Given the description of an element on the screen output the (x, y) to click on. 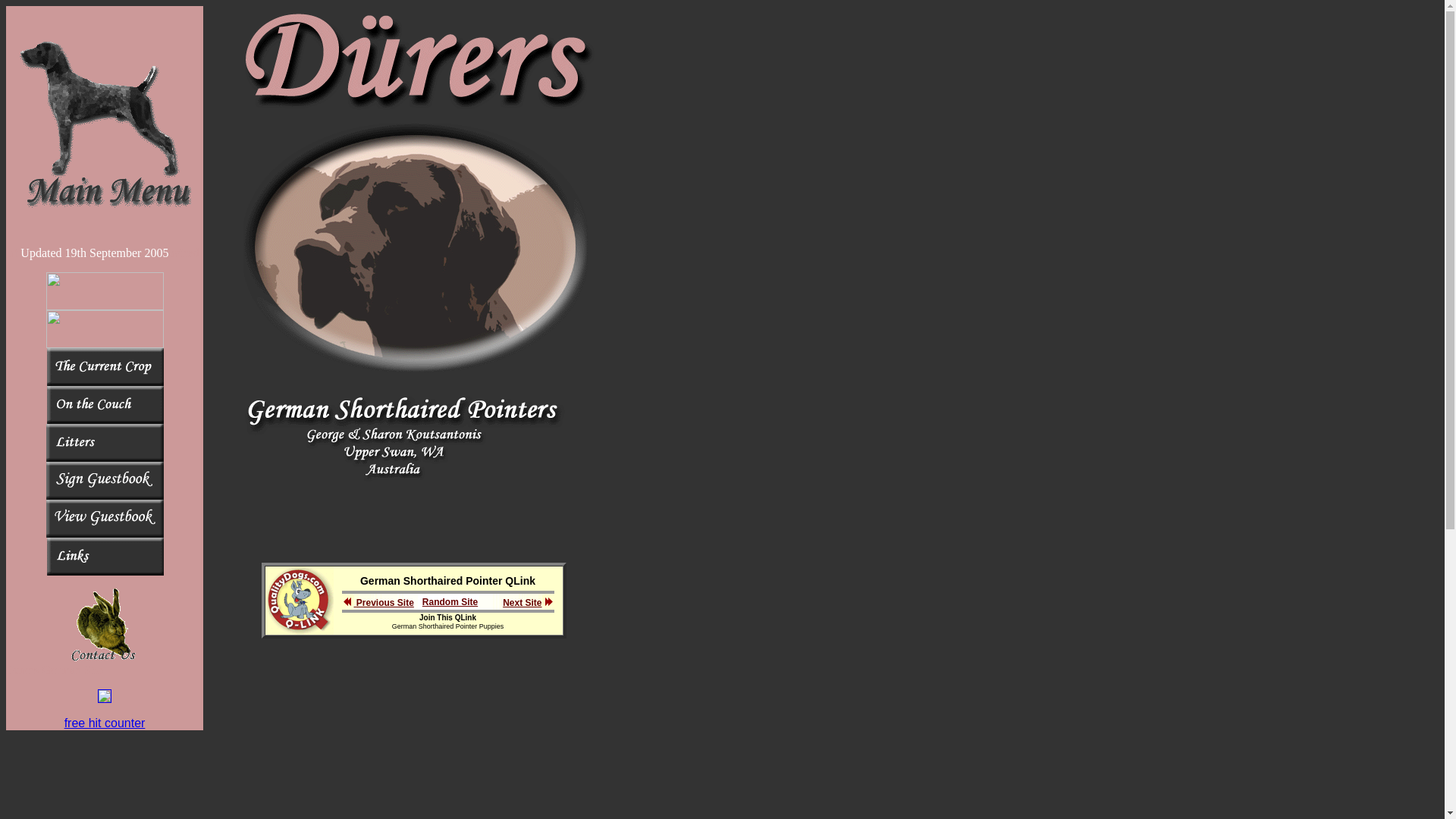
Previous Site Element type: text (383, 602)
German Shorthaired Pointer Puppies Element type: text (448, 626)
Join This QLink Element type: text (447, 617)
German Shorthaired Pointer QLink Element type: text (447, 580)
Random Site Element type: text (449, 601)
Next Site Element type: text (527, 602)
free hit counter Element type: text (104, 722)
